Given the description of an element on the screen output the (x, y) to click on. 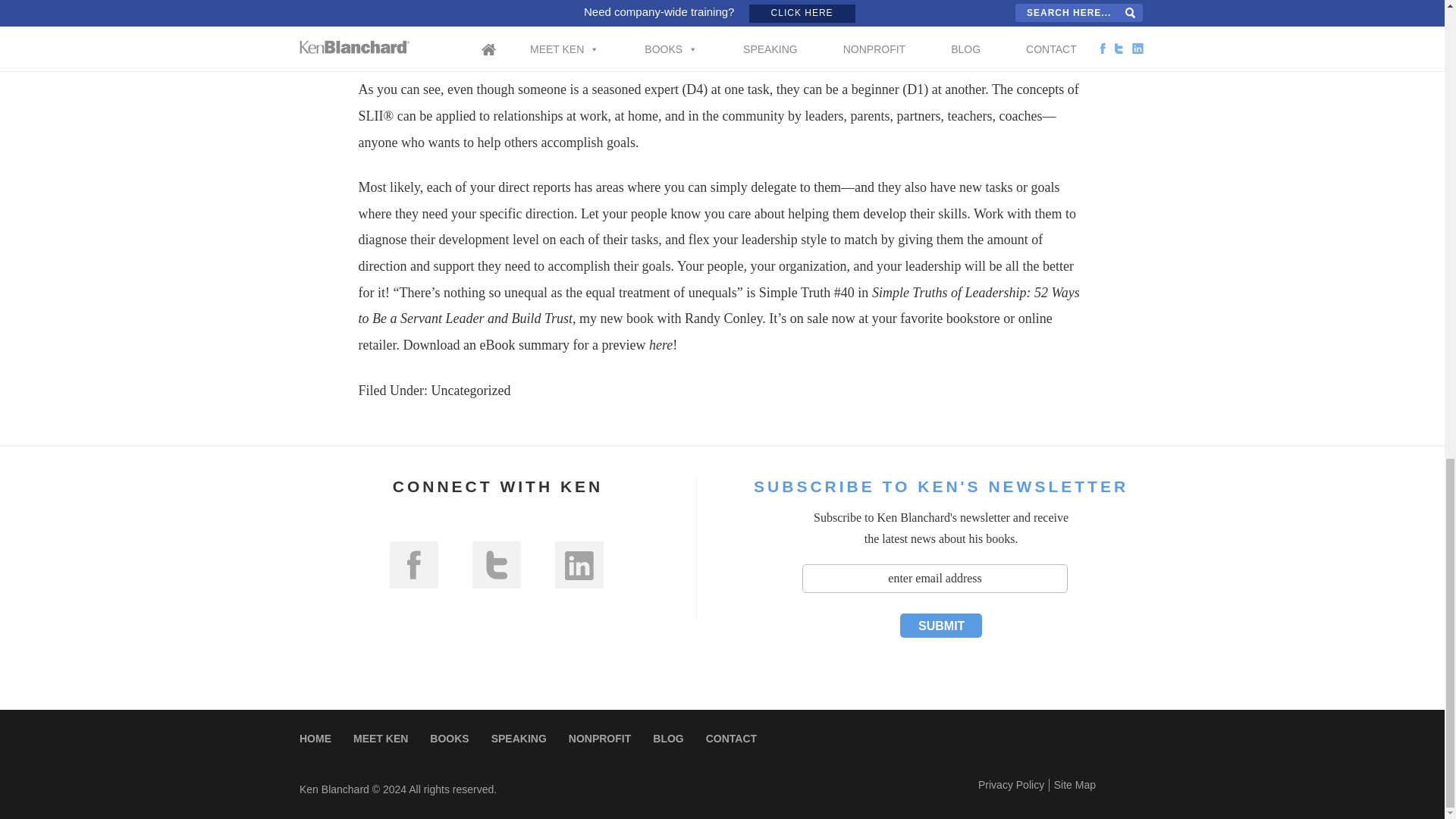
facebook (414, 564)
Submit (940, 625)
Uncategorized (470, 390)
MEET KEN (380, 738)
HOME (315, 738)
Submit (940, 625)
SPEAKING (519, 738)
BOOKS (448, 738)
Twitter (496, 564)
linkdin (579, 564)
